Given the description of an element on the screen output the (x, y) to click on. 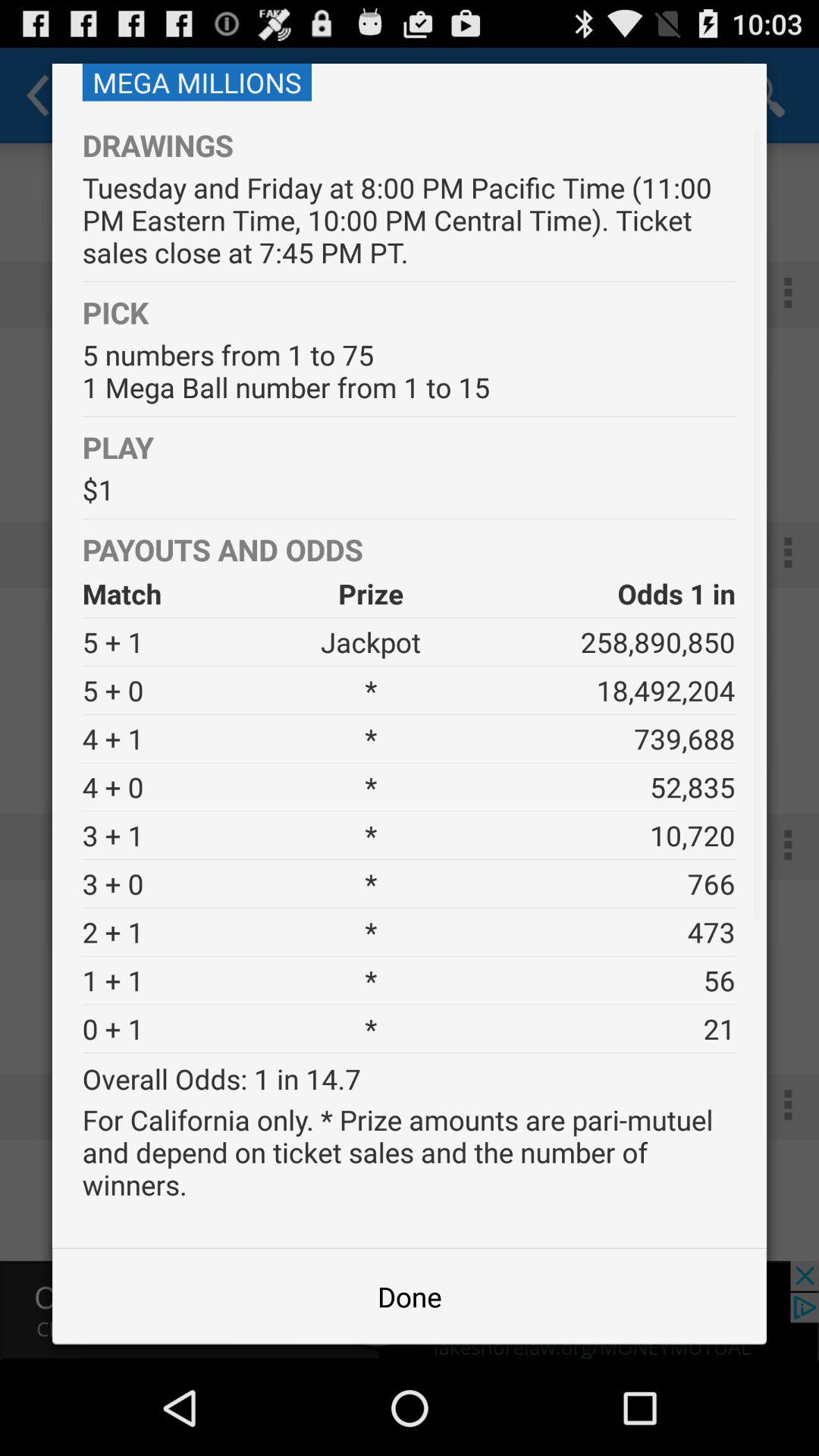
launch the done button (409, 1296)
